Given the description of an element on the screen output the (x, y) to click on. 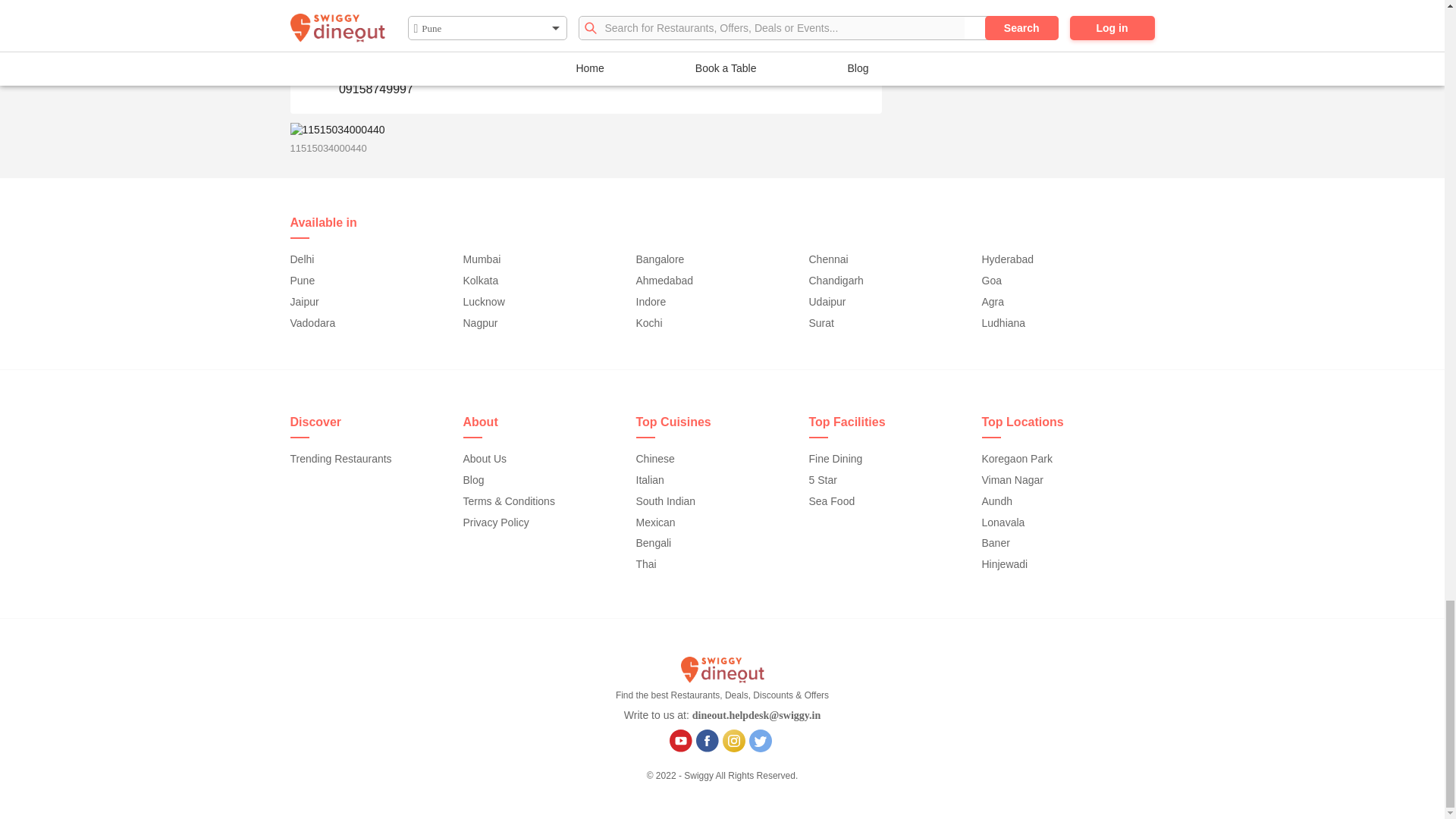
help (314, 68)
11515034000440 (336, 130)
